Given the description of an element on the screen output the (x, y) to click on. 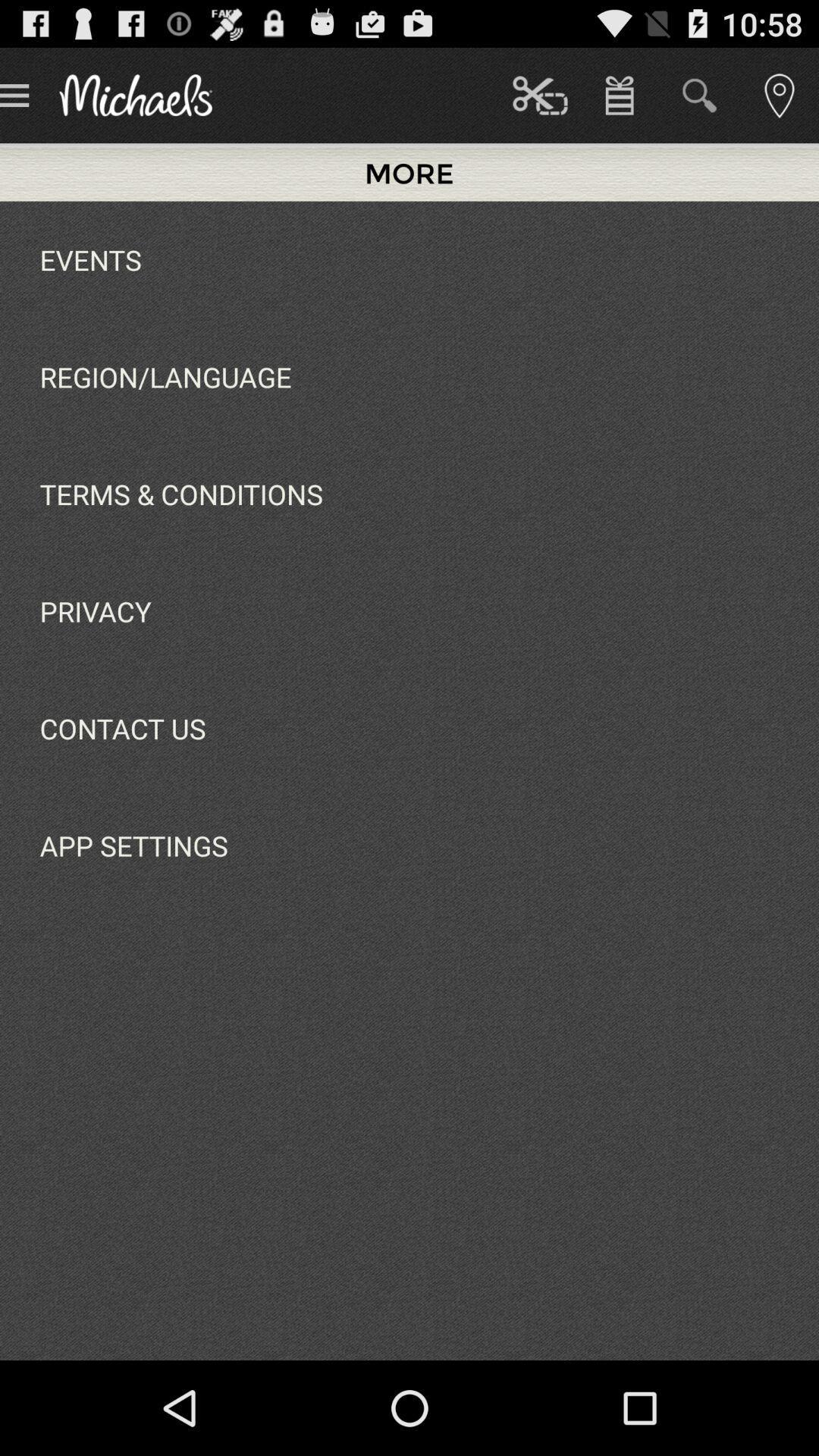
click icon below region/language icon (181, 494)
